Given the description of an element on the screen output the (x, y) to click on. 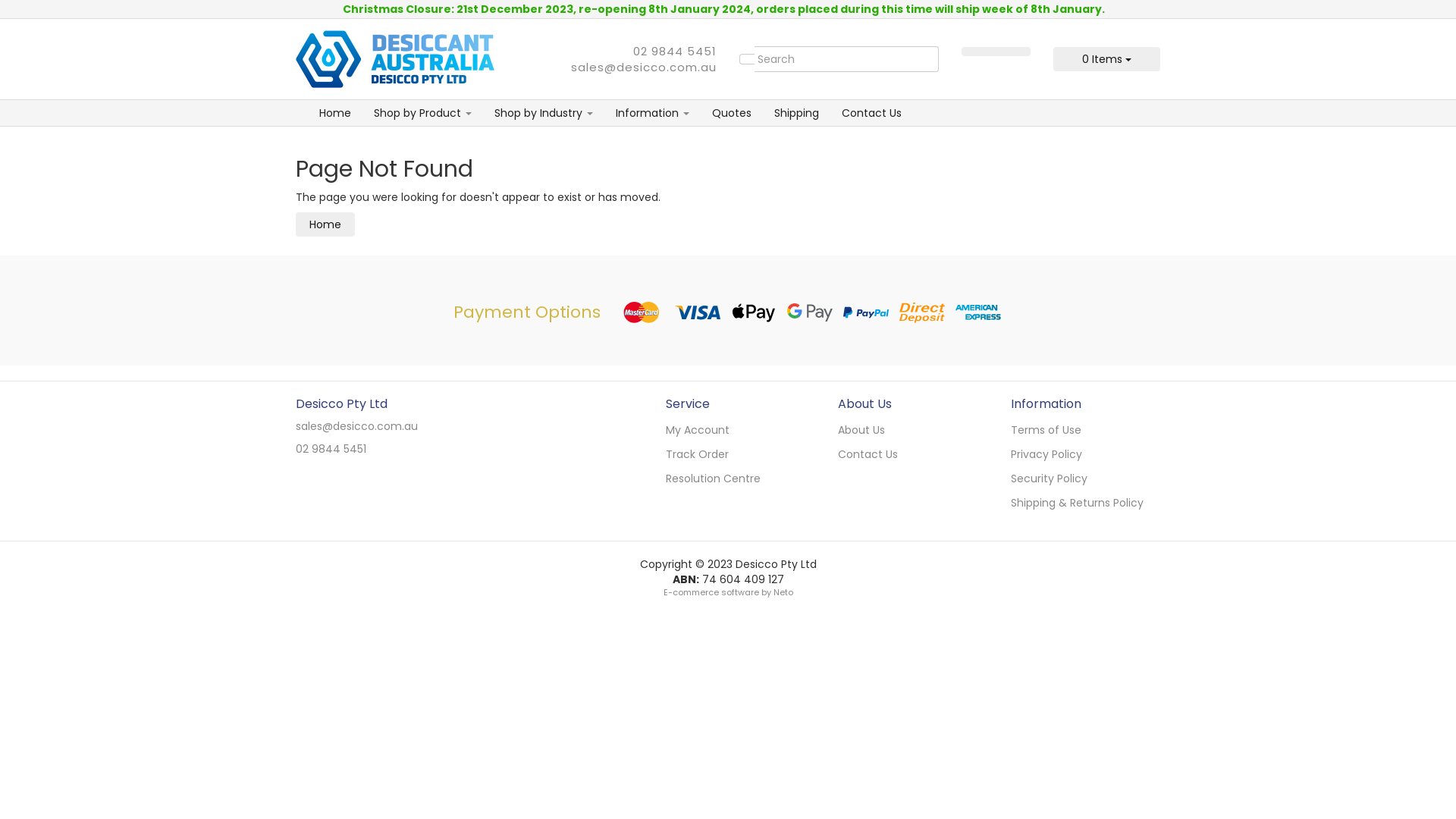
Resolution Centre Element type: text (734, 478)
About Us Element type: text (907, 429)
Contact Us Element type: text (907, 453)
search Element type: text (747, 58)
Shipping & Returns Policy Element type: text (1080, 502)
Terms of Use Element type: text (1080, 429)
sales@desicco.com.au Element type: text (643, 67)
Information Element type: text (652, 112)
Quotes Element type: text (731, 112)
0 Items Element type: text (1106, 59)
Security Policy Element type: text (1080, 478)
sales@desicco.com.au Element type: text (356, 425)
Track Order Element type: text (734, 453)
Privacy Policy Element type: text (1080, 453)
E-commerce software by Neto Element type: text (727, 592)
Desicco Pty Ltd Element type: hover (394, 57)
Shipping Element type: text (796, 112)
Home Element type: text (334, 112)
Shop by Product Element type: text (422, 112)
Shop by Industry Element type: text (543, 112)
02 9844 5451 Element type: text (674, 51)
Home Element type: text (324, 224)
My Account Element type: text (734, 429)
Contact Us Element type: text (871, 112)
02 9844 5451 Element type: text (330, 448)
